Given the description of an element on the screen output the (x, y) to click on. 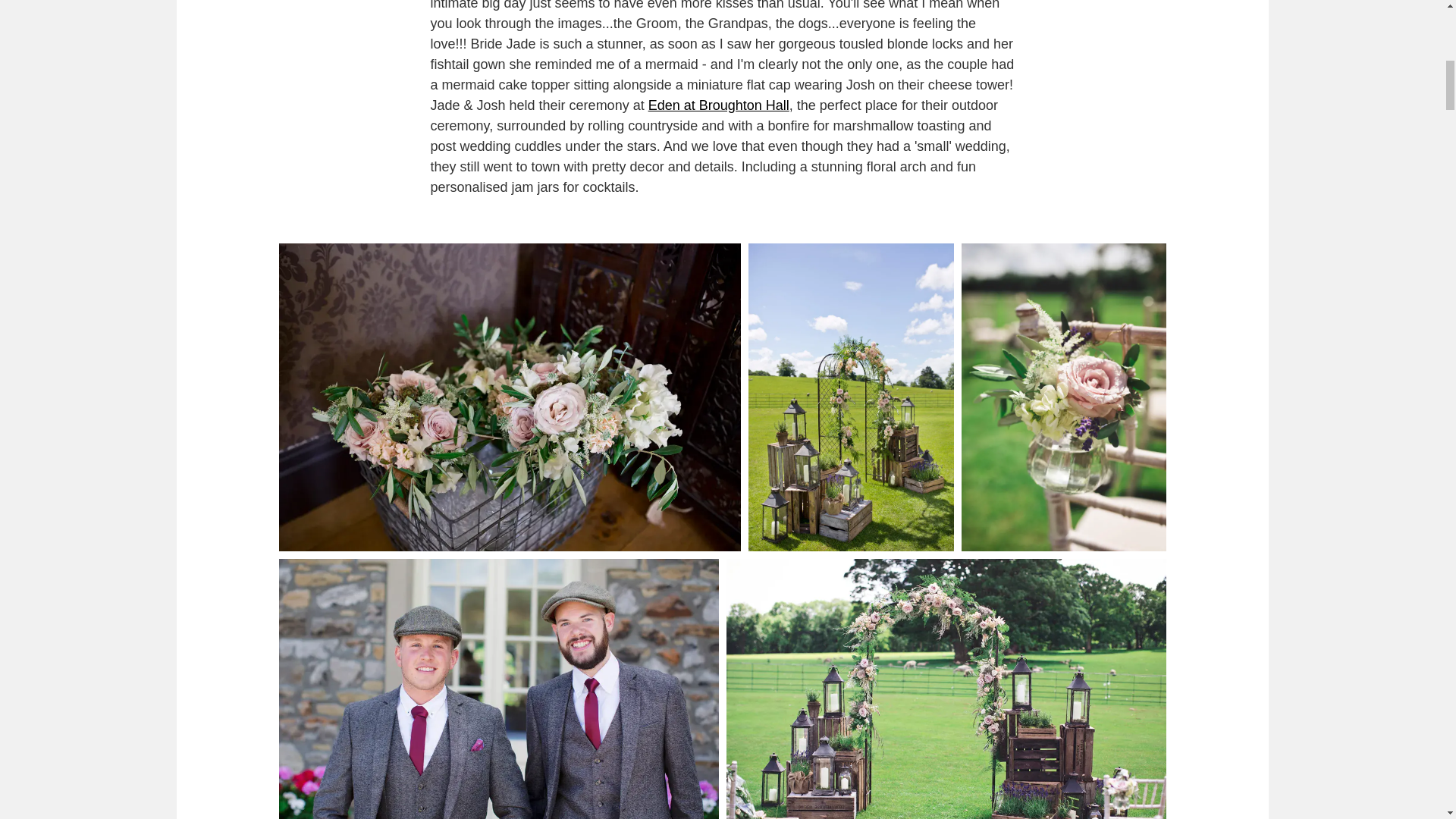
Eden at Broughton Hall (718, 105)
